Given the description of an element on the screen output the (x, y) to click on. 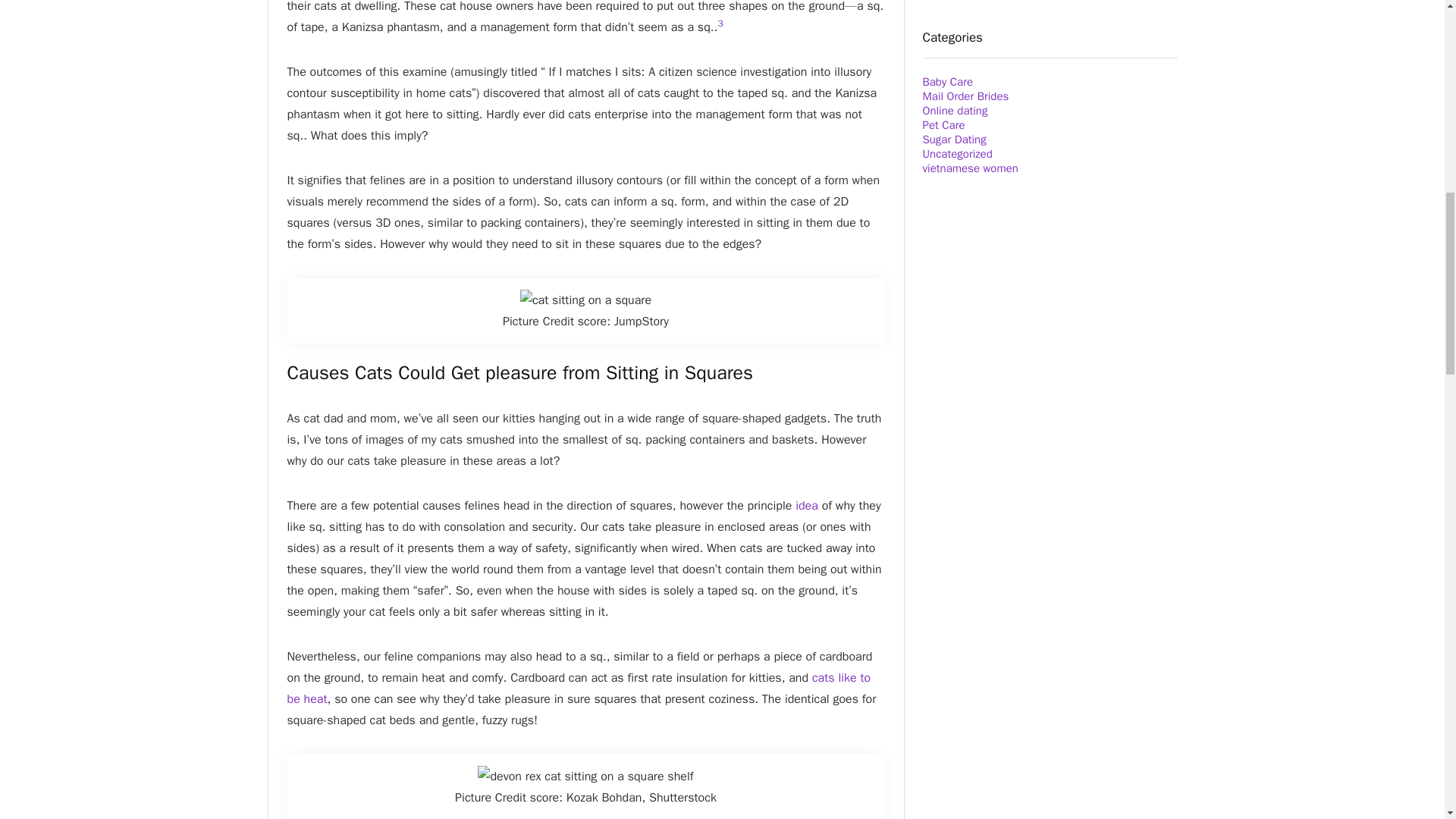
idea (806, 505)
cats like to be heat (578, 688)
